Given the description of an element on the screen output the (x, y) to click on. 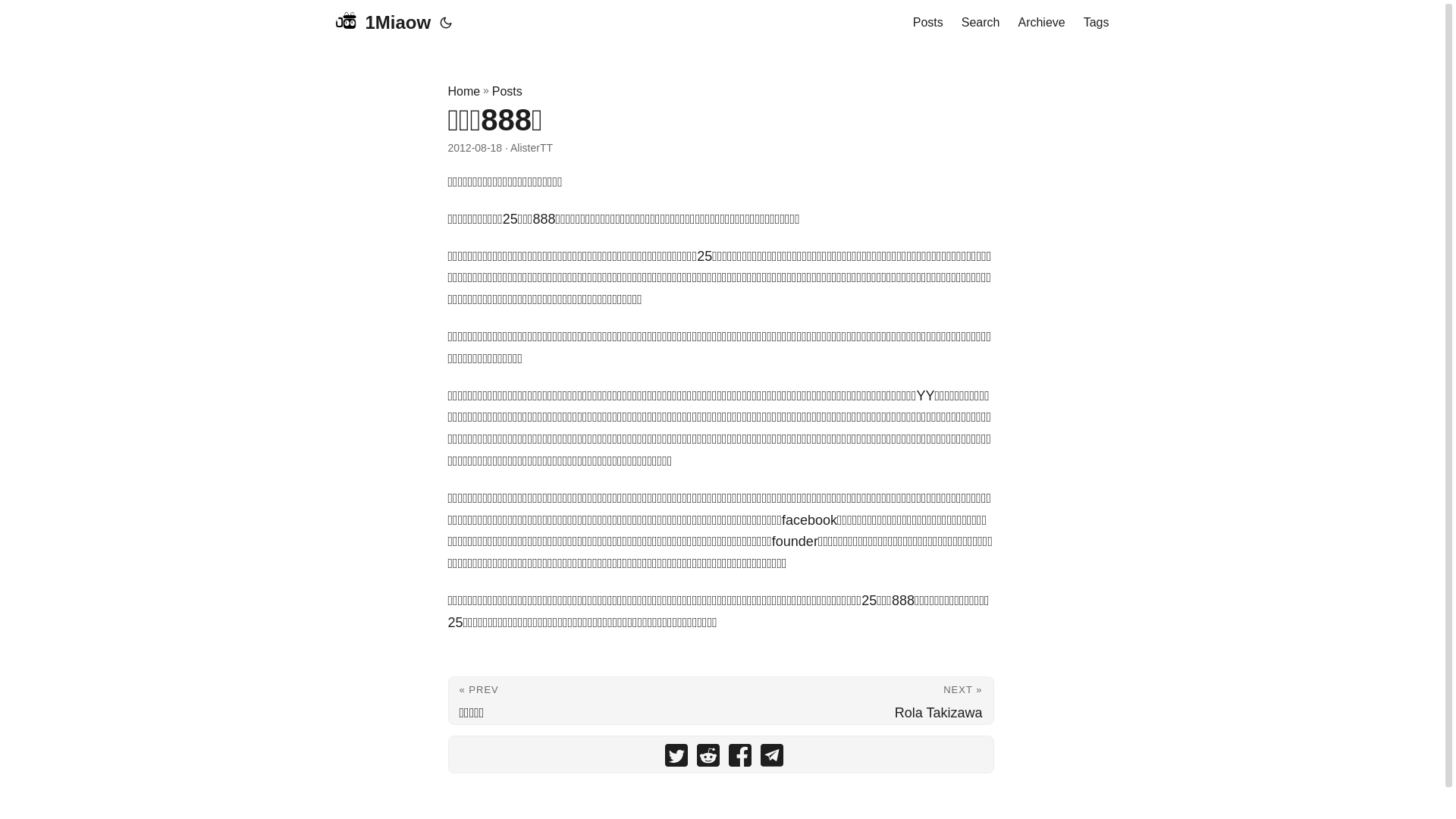
Posts Element type: text (928, 22)
Posts Element type: text (507, 91)
1Miaow Element type: text (381, 22)
Archieve Element type: text (1040, 22)
Home Element type: text (463, 91)
(Alt + T) Element type: hover (445, 22)
Tags Element type: text (1096, 22)
Search Element type: text (980, 22)
